Given the description of an element on the screen output the (x, y) to click on. 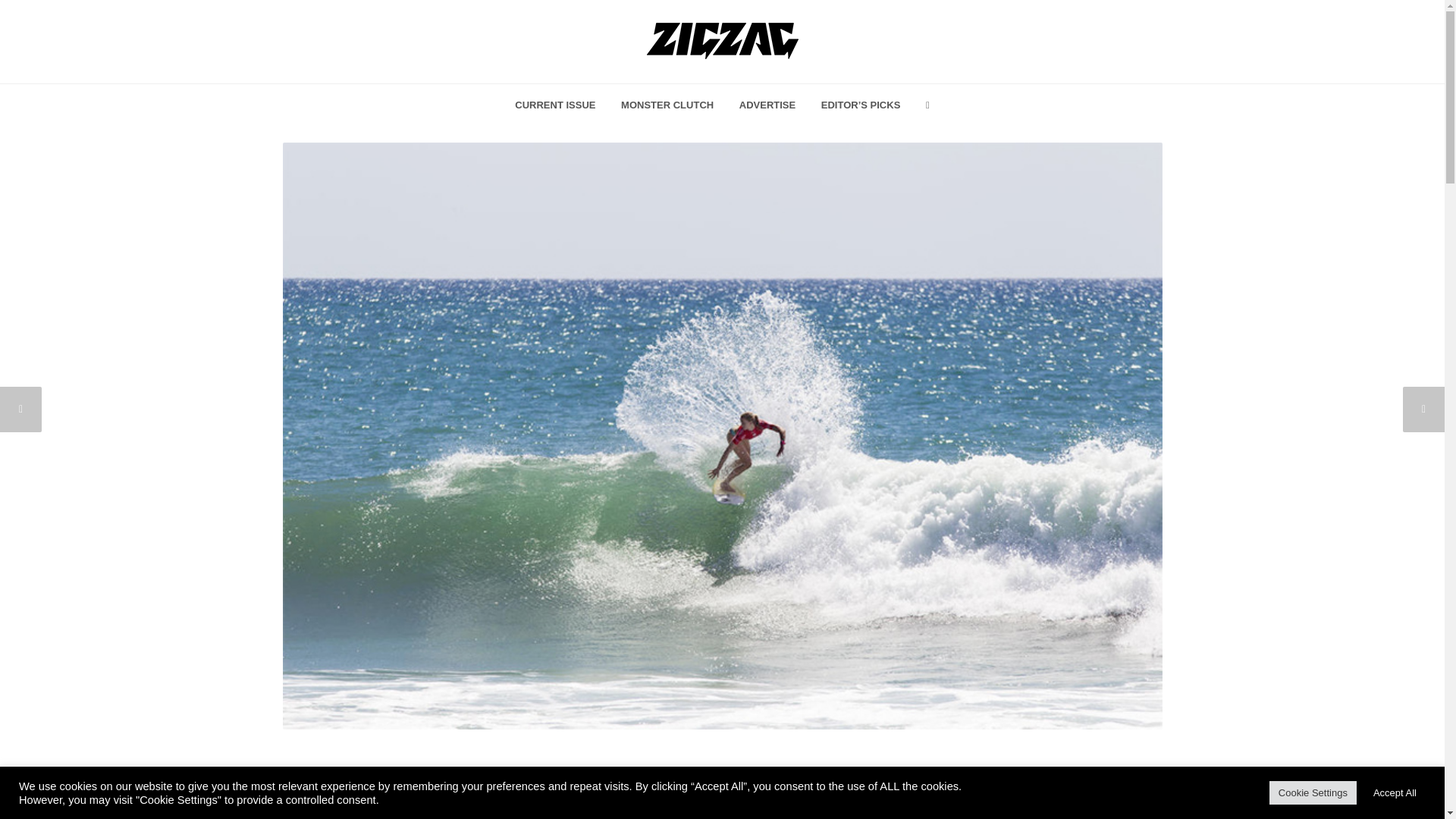
ADVERTISE (767, 105)
MONSTER CLUTCH (667, 105)
CURRENT ISSUE (555, 105)
